Given the description of an element on the screen output the (x, y) to click on. 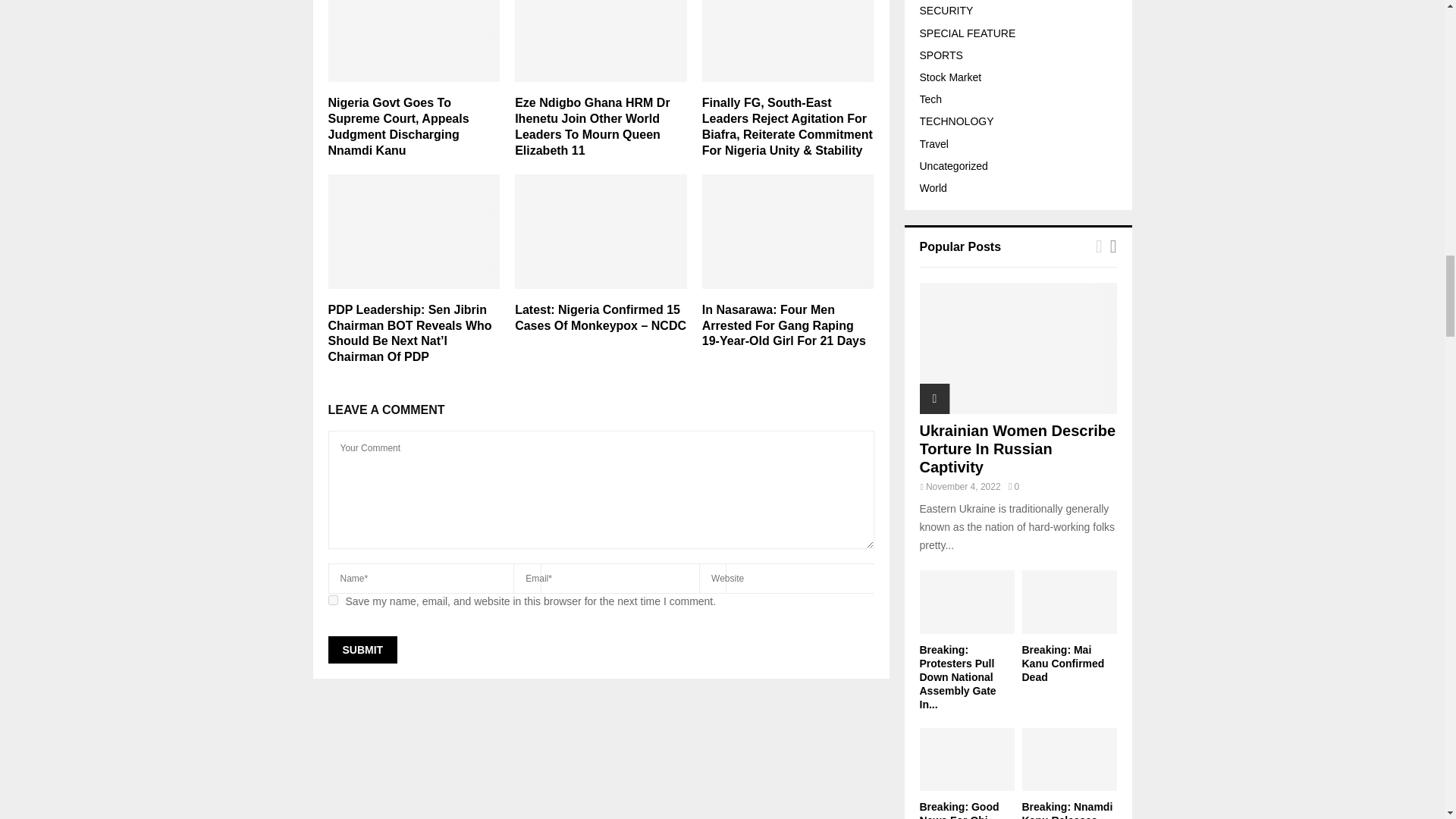
yes (332, 600)
Submit (362, 649)
